Given the description of an element on the screen output the (x, y) to click on. 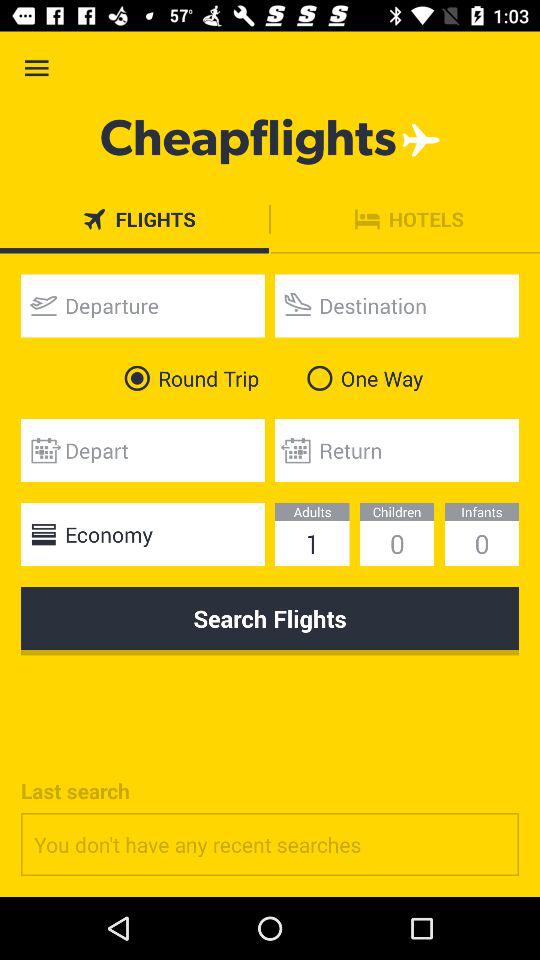
click the icon below economy item (270, 621)
